Given the description of an element on the screen output the (x, y) to click on. 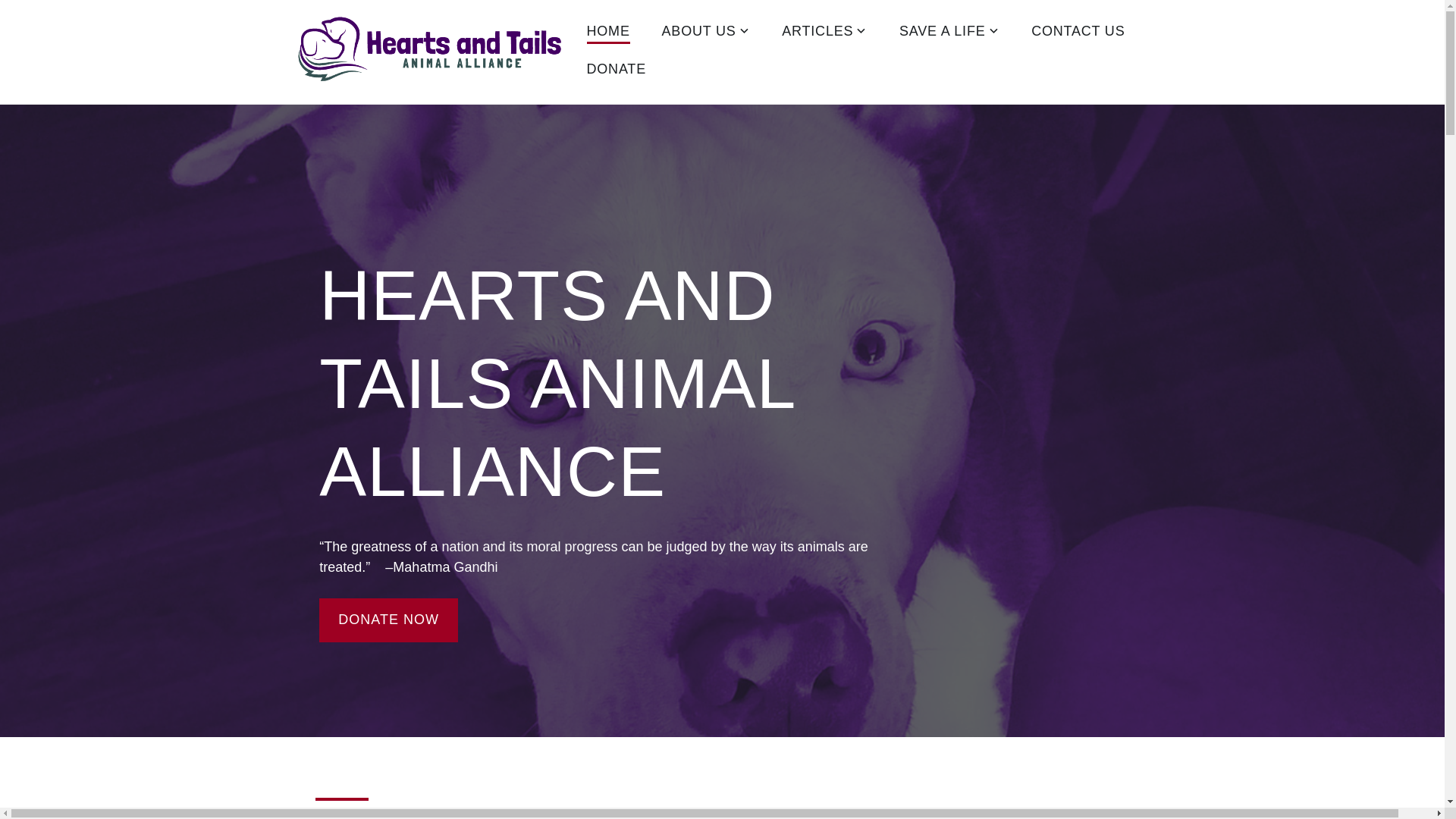
ARTICLES (824, 32)
HOME (608, 32)
ABOUT US (706, 32)
DONATE (616, 69)
SAVE A LIFE (948, 32)
HEARTS AND TAILS ANIMAL ALLIANCE (420, 119)
DONATE NOW (388, 620)
CONTACT US (1077, 32)
